Given the description of an element on the screen output the (x, y) to click on. 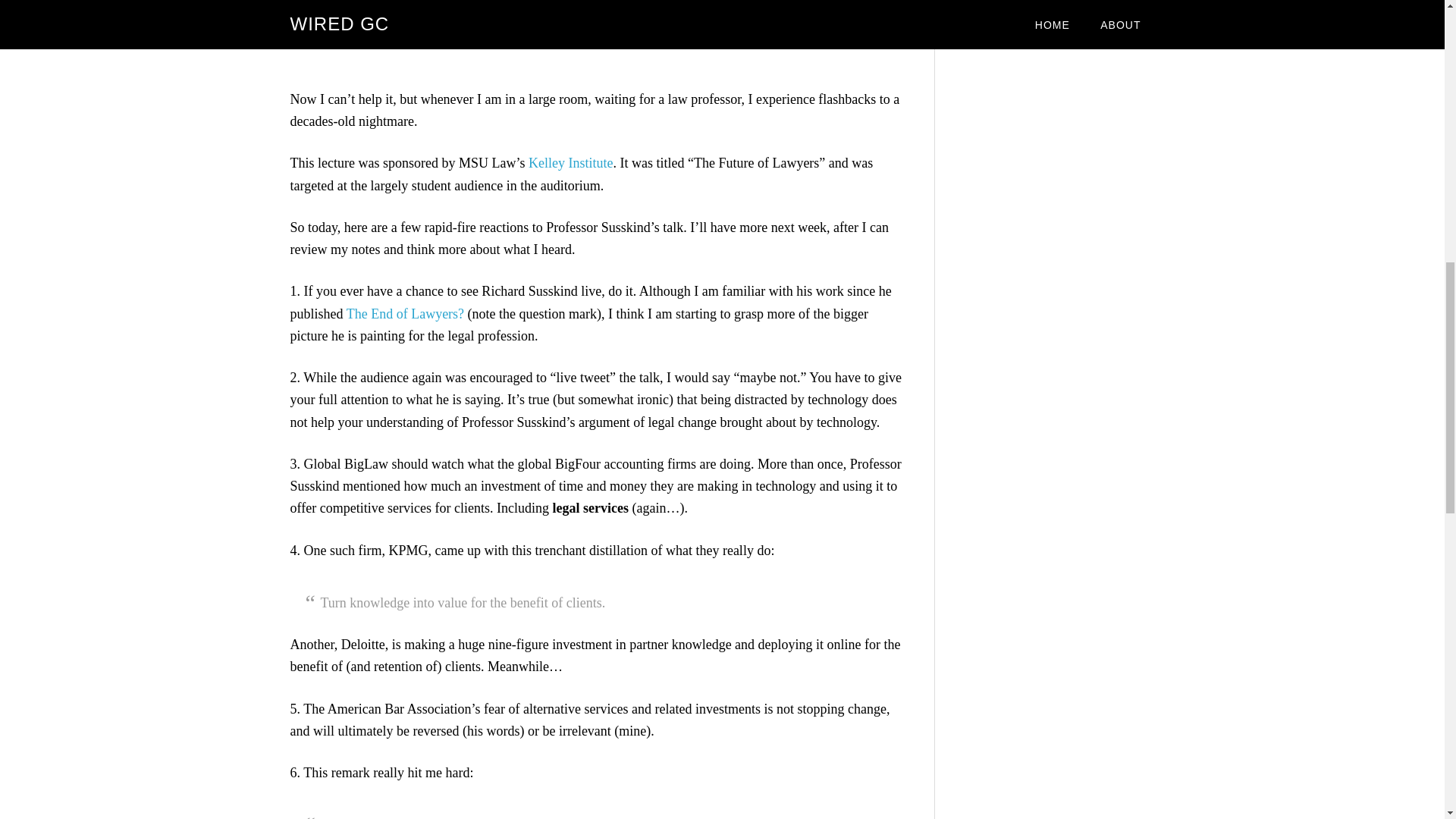
The End of Lawyers? (405, 313)
JJW - MSU - Wired GC (596, 34)
Kelley Institute (570, 162)
